Given the description of an element on the screen output the (x, y) to click on. 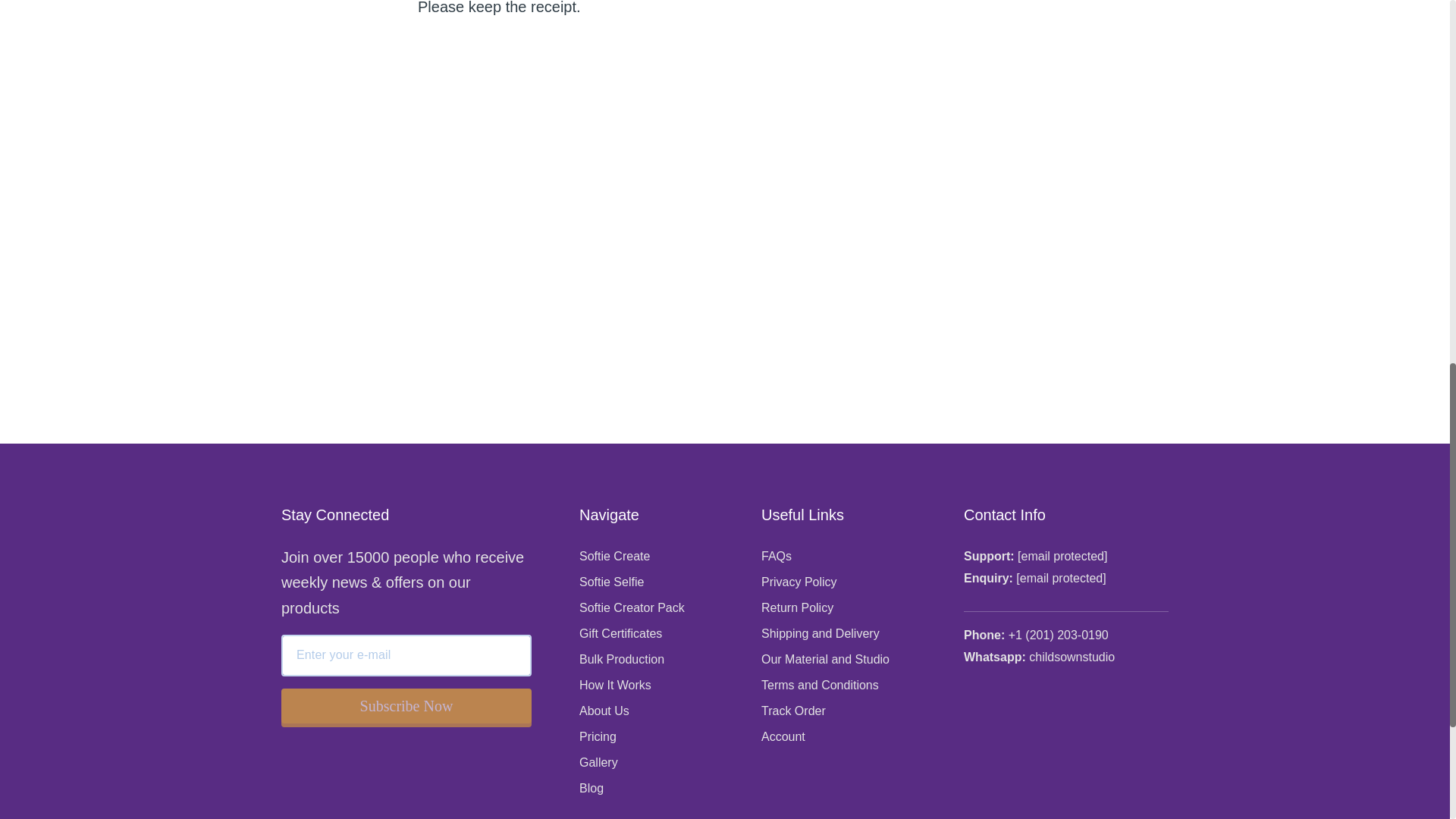
About Us (603, 710)
Pricing (597, 736)
Blog (591, 788)
Softie Creator Pack (631, 607)
Subscribe Now (406, 705)
Gift Certificates (620, 633)
Bulk Production (621, 658)
Softie Create (614, 555)
How It Works (614, 684)
Privacy Policy (799, 581)
